Given the description of an element on the screen output the (x, y) to click on. 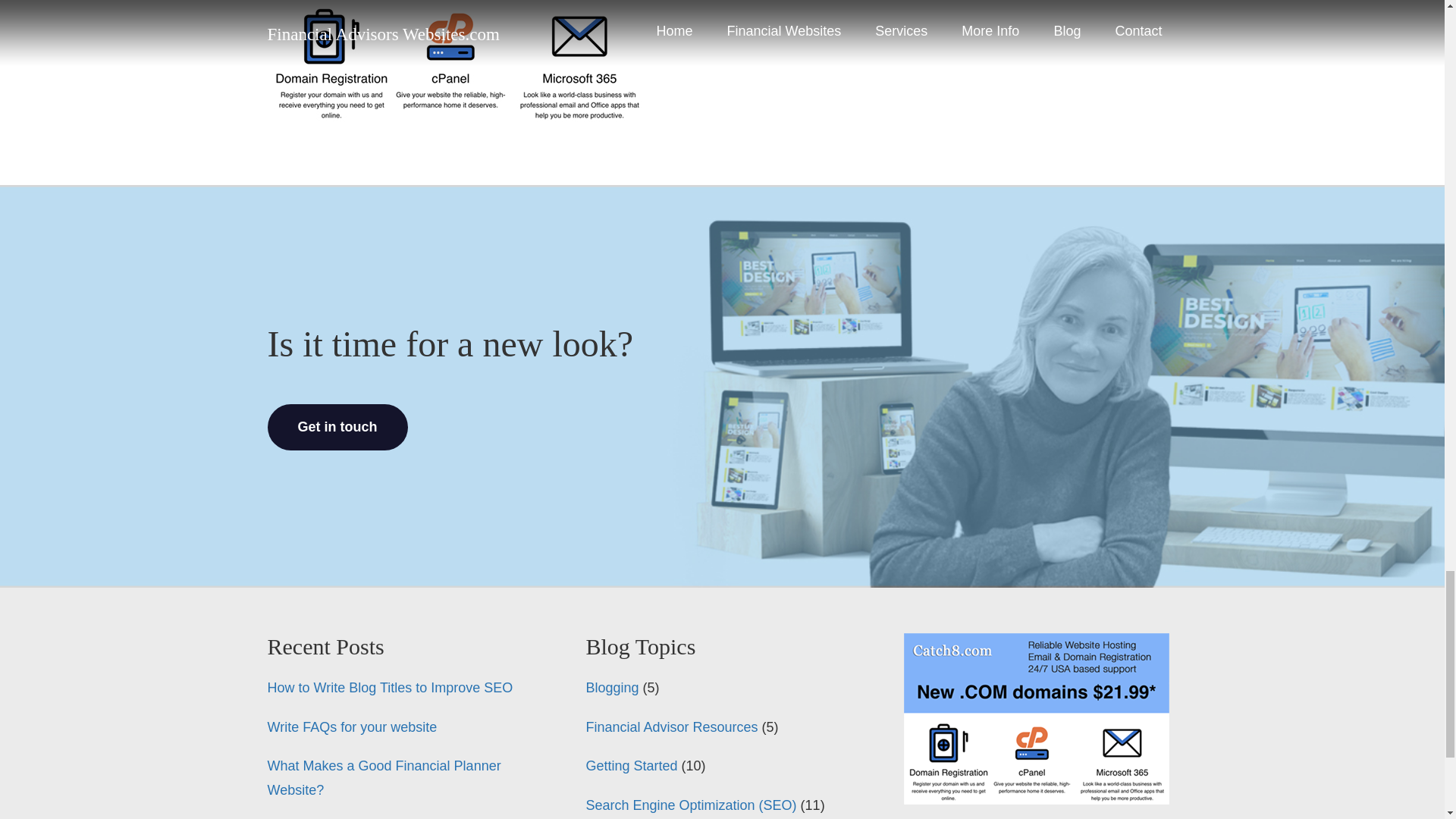
Get in touch (336, 427)
Financial Advisor Resources (671, 726)
What Makes a Good Financial Planner Website? (383, 777)
Getting Started (631, 765)
Blogging (612, 687)
Write FAQs for your website (351, 726)
How to Write Blog Titles to Improve SEO (389, 687)
